Given the description of an element on the screen output the (x, y) to click on. 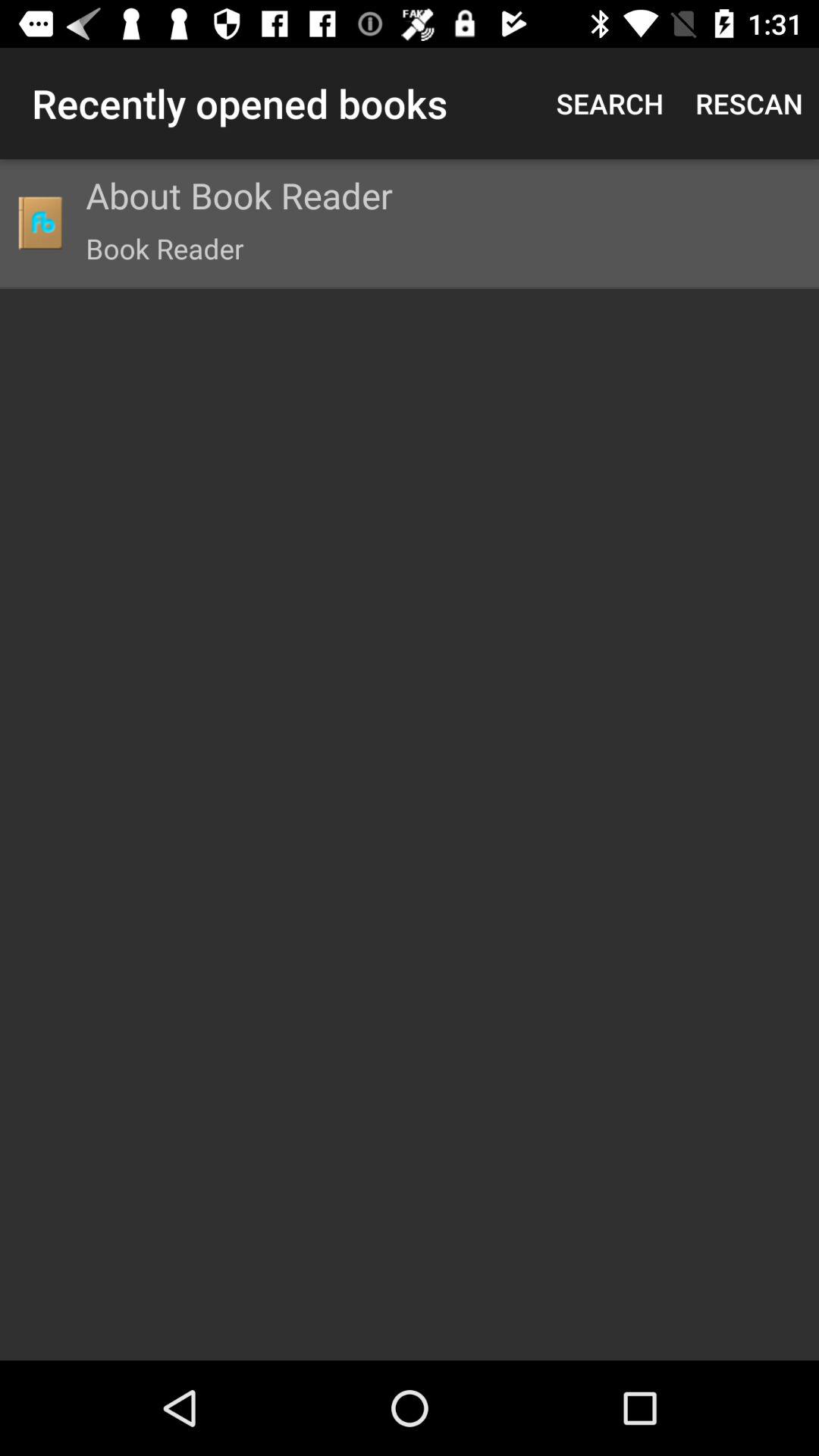
tap icon next to the recently opened books item (609, 103)
